Given the description of an element on the screen output the (x, y) to click on. 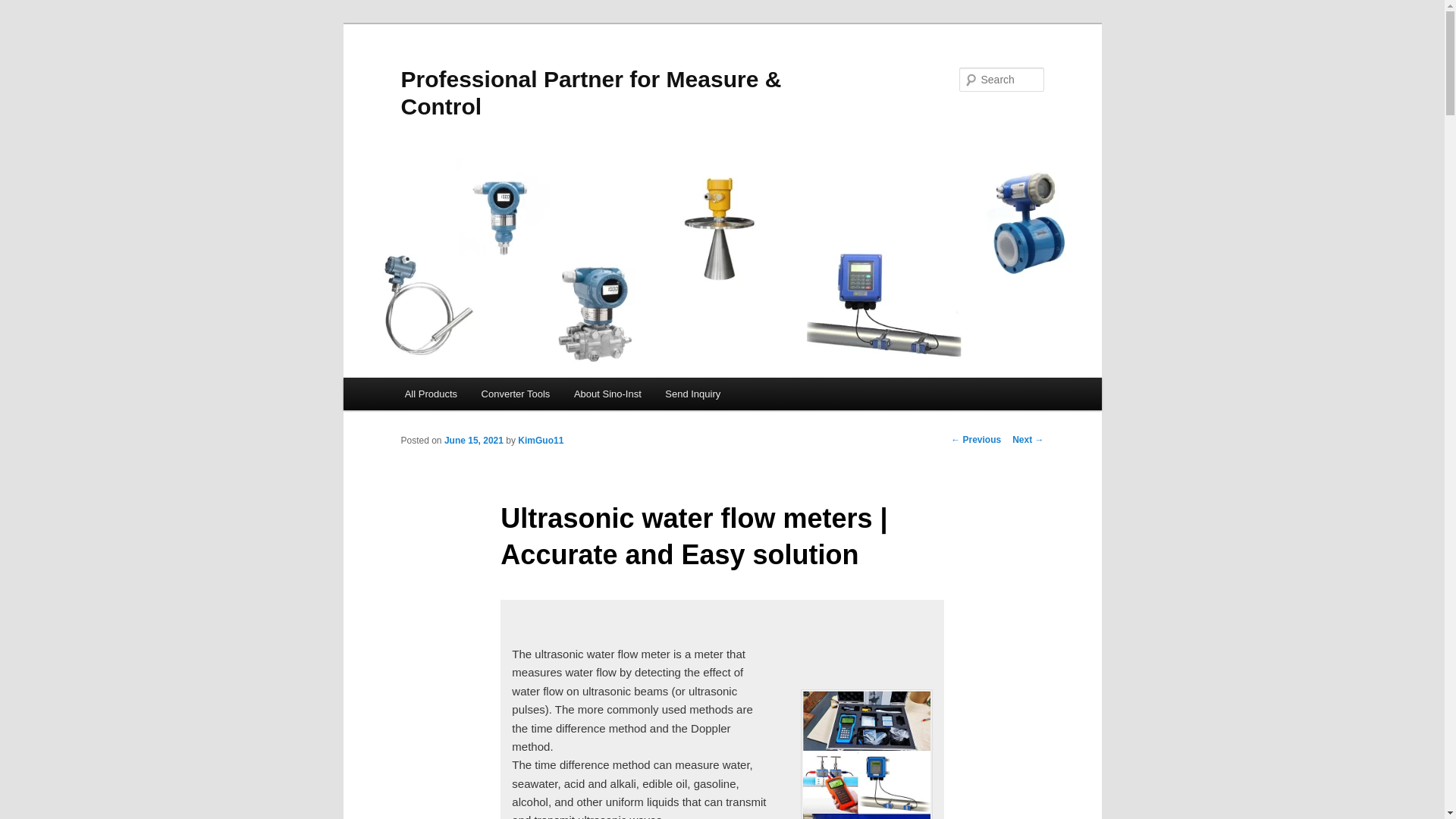
All Products (430, 393)
Search (24, 8)
6:27 am (473, 439)
View all posts by KimGuo11 (540, 439)
